Given the description of an element on the screen output the (x, y) to click on. 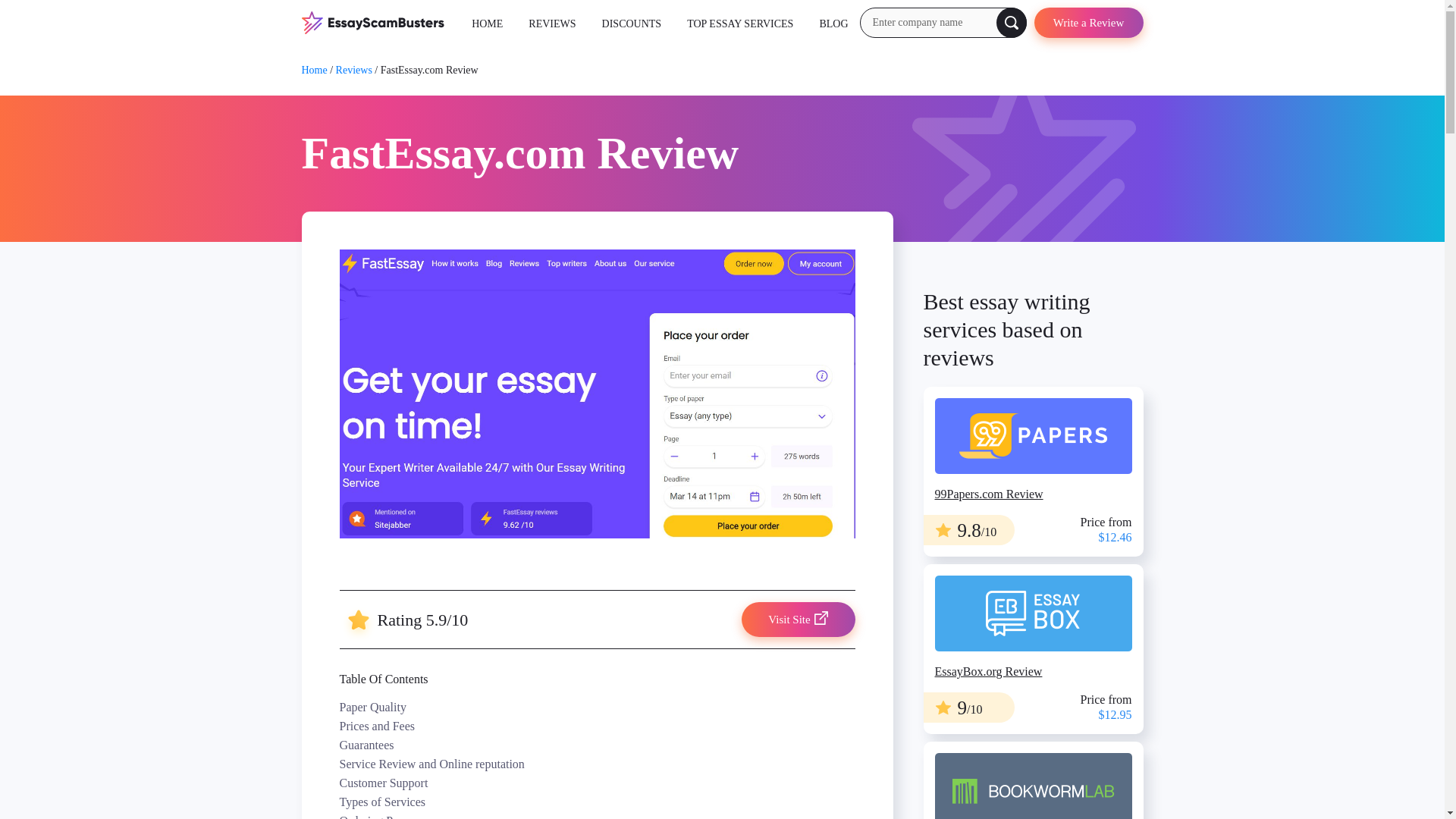
Home (314, 70)
BLOG (832, 23)
BookwormLab.com Review (1032, 780)
Paper Quality (597, 706)
Prices and Fees (597, 725)
EssayBox.org Review (1032, 648)
Types of Services (597, 801)
Customer Support (597, 782)
Reviews (354, 70)
Service Review and Online reputation (597, 763)
Ordering Process (597, 815)
Visit Site (798, 619)
DISCOUNTS (632, 23)
REVIEWS (551, 23)
EssayScamBusters.com (372, 21)
